Given the description of an element on the screen output the (x, y) to click on. 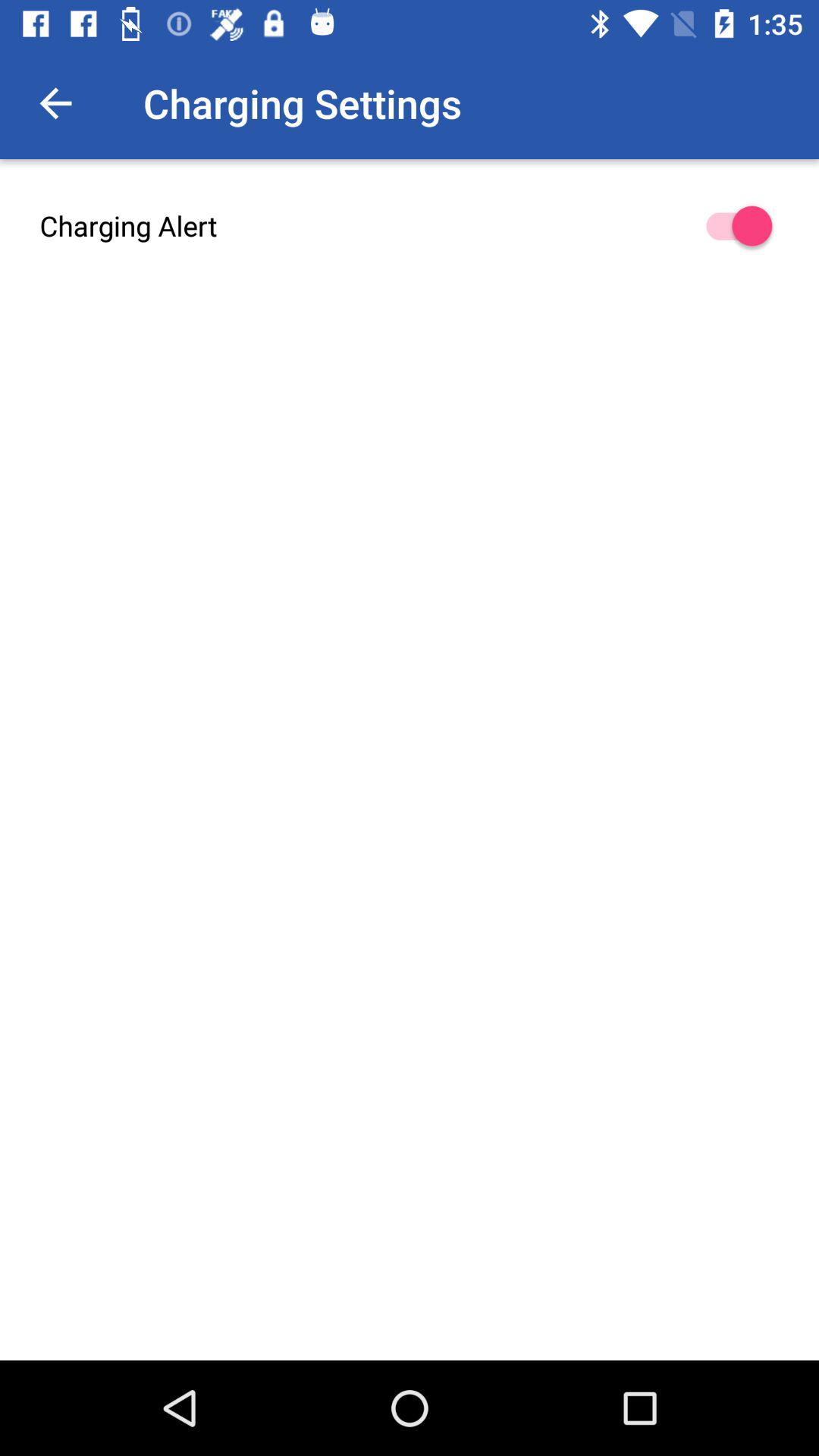
tap the charging alert (409, 226)
